Given the description of an element on the screen output the (x, y) to click on. 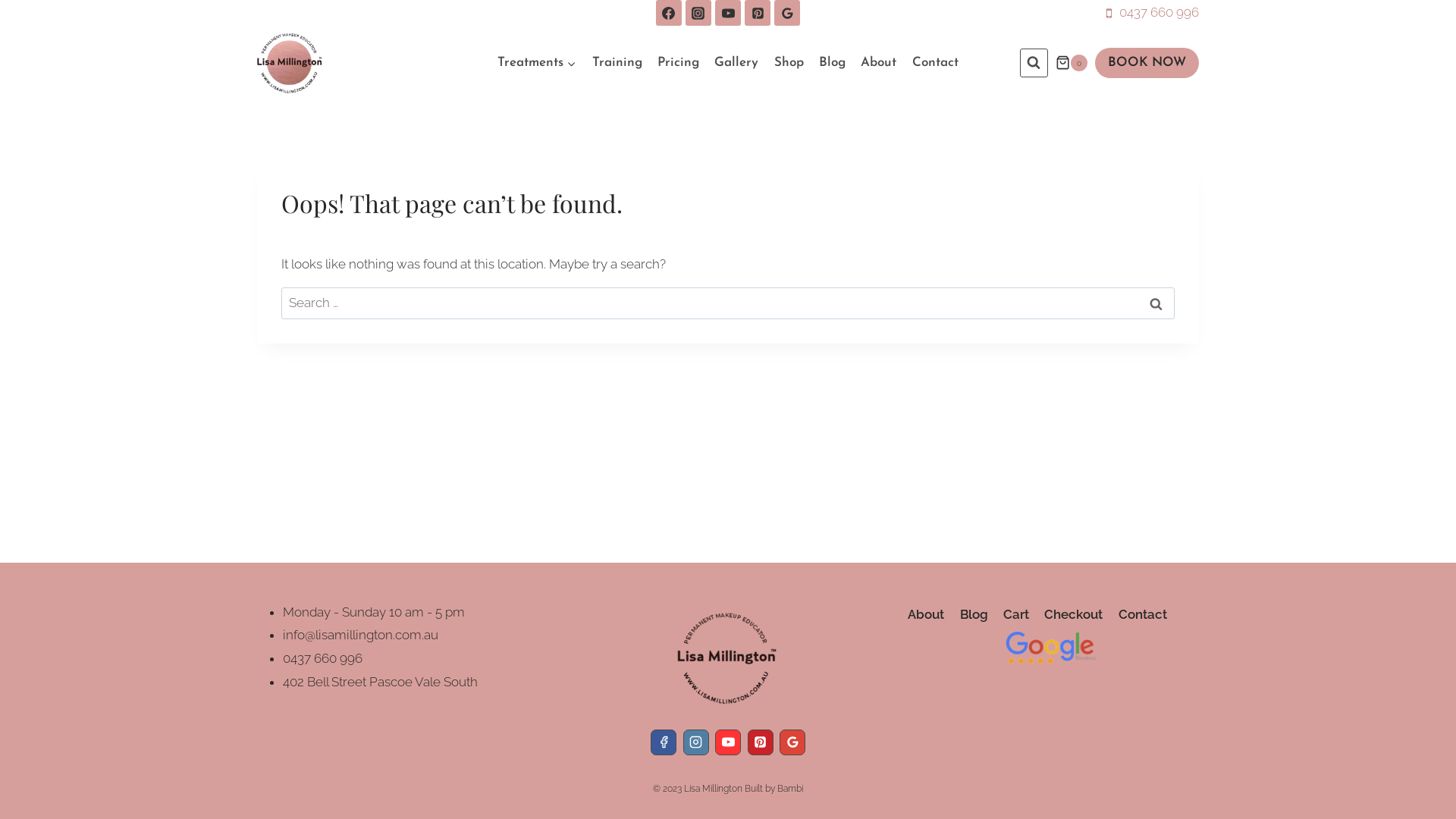
Shop Element type: text (787, 62)
Blog Element type: text (972, 614)
About Element type: text (878, 62)
Training Element type: text (616, 62)
Contact Element type: text (1141, 614)
Checkout Element type: text (1073, 614)
BOOK NOW Element type: text (1146, 62)
Bambi Element type: text (790, 788)
Cart Element type: text (1015, 614)
Gallery Element type: text (735, 62)
Treatments Element type: text (536, 62)
Pricing Element type: text (677, 62)
Search Element type: text (1155, 303)
0 Element type: text (1071, 62)
Contact Element type: text (935, 62)
Blog Element type: text (832, 62)
About Element type: text (925, 614)
